Given the description of an element on the screen output the (x, y) to click on. 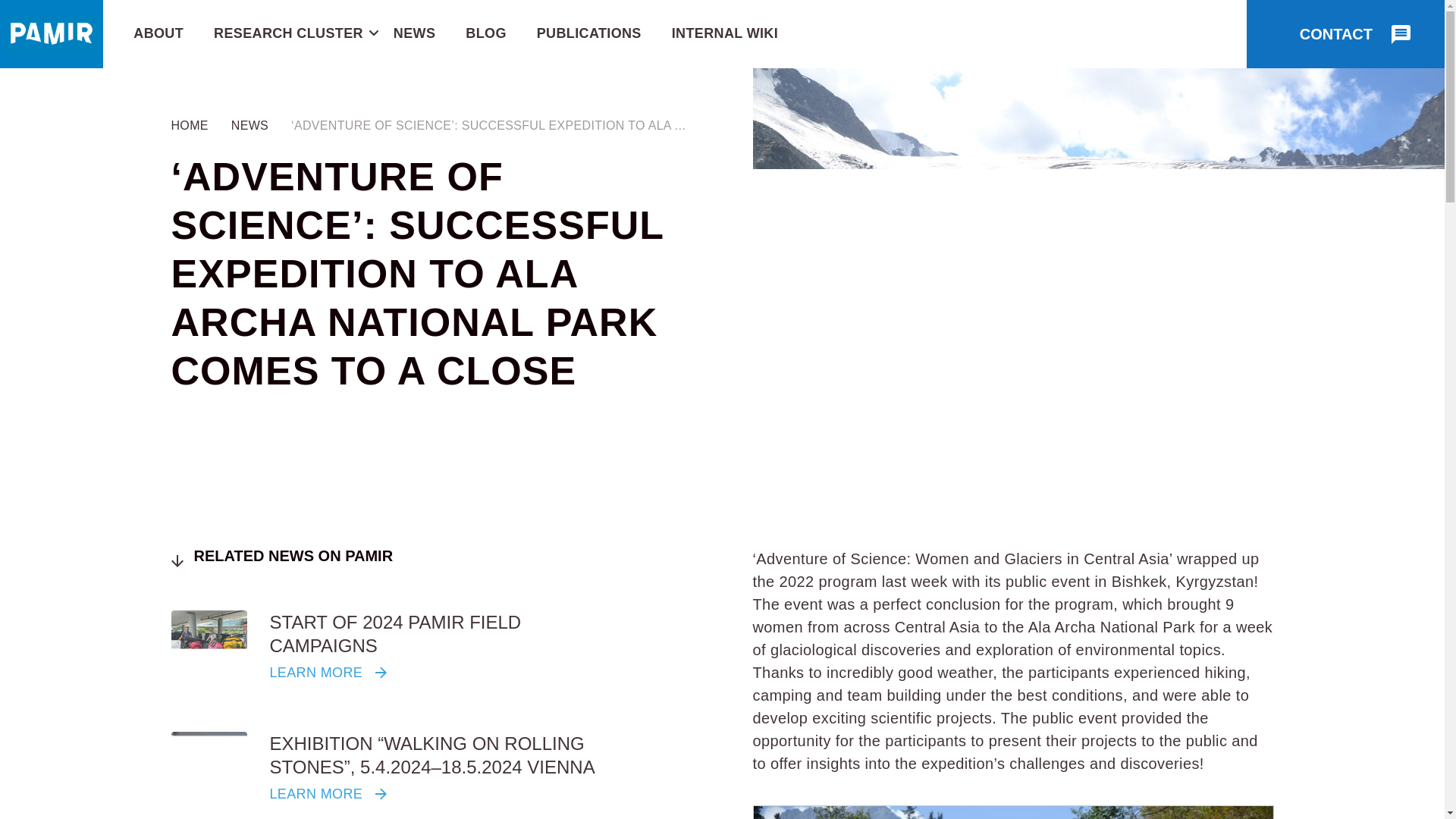
INTERNAL WIKI (724, 32)
LEARN MORE (331, 793)
START OF 2024 PAMIR FIELD CAMPAIGNS (395, 633)
RESEARCH CLUSTER (288, 32)
HOME (189, 124)
About (158, 32)
NEWS (414, 32)
ABOUT (158, 32)
LEARN MORE (331, 672)
Research Cluster (288, 32)
Blog (485, 32)
Publications (589, 32)
PUBLICATIONS (589, 32)
News (414, 32)
Internal Wiki (724, 32)
